Given the description of an element on the screen output the (x, y) to click on. 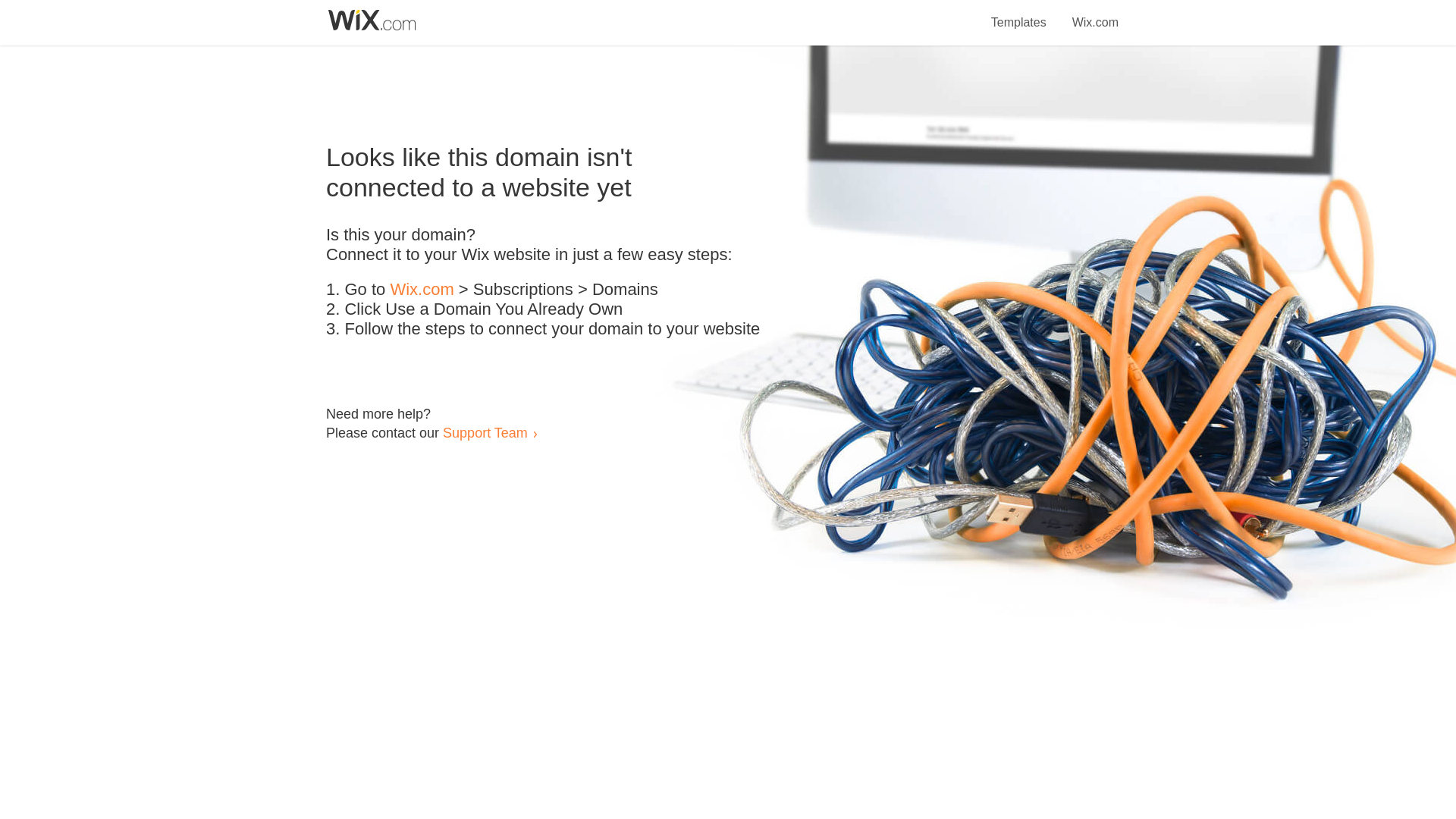
Wix.com (1095, 14)
Templates (1018, 14)
Support Team (484, 432)
Wix.com (421, 289)
